Given the description of an element on the screen output the (x, y) to click on. 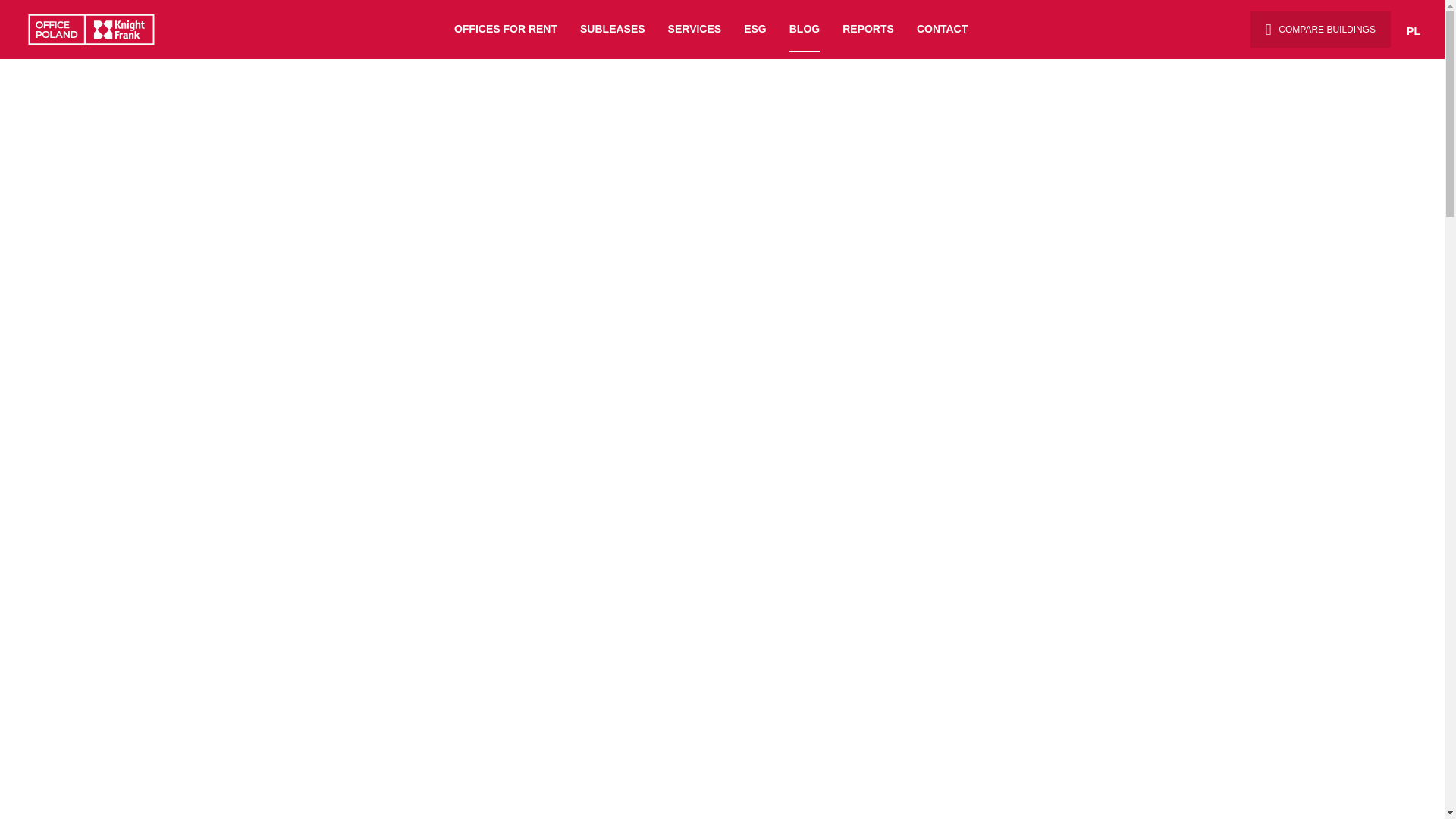
REPORTS (868, 29)
Contact (942, 29)
COMPARE BUILDINGS (1320, 29)
CONTACT (942, 29)
OfficePoland.pl (96, 29)
OFFICES FOR RENT (505, 29)
Services (695, 29)
Subleases (612, 29)
SERVICES (695, 29)
OFFICES FOR RENT (505, 29)
Reports (868, 29)
SUBLEASES (612, 29)
